Given the description of an element on the screen output the (x, y) to click on. 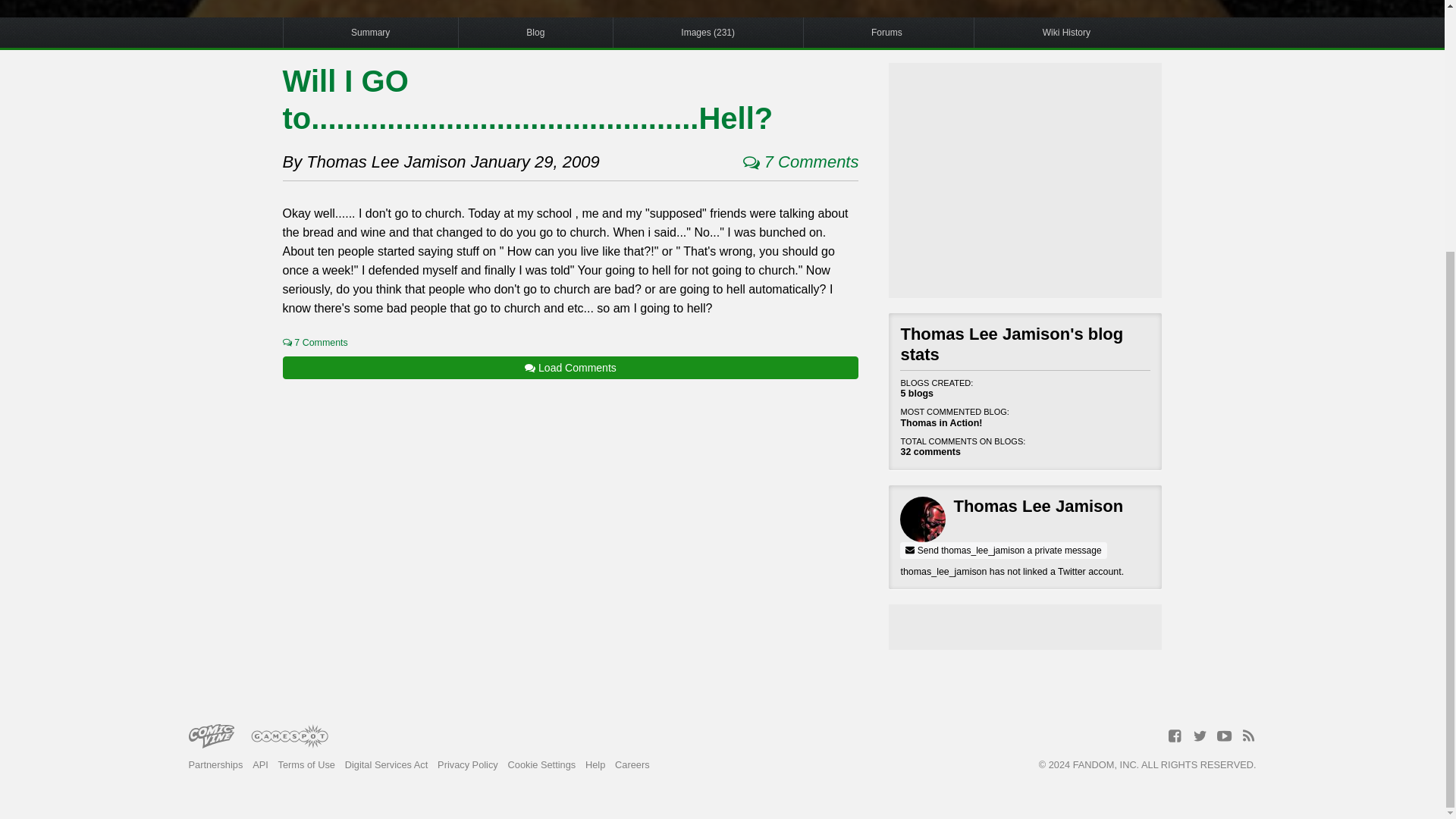
Comic Vine (209, 736)
GameSpot (289, 736)
RSS (1248, 736)
